Given the description of an element on the screen output the (x, y) to click on. 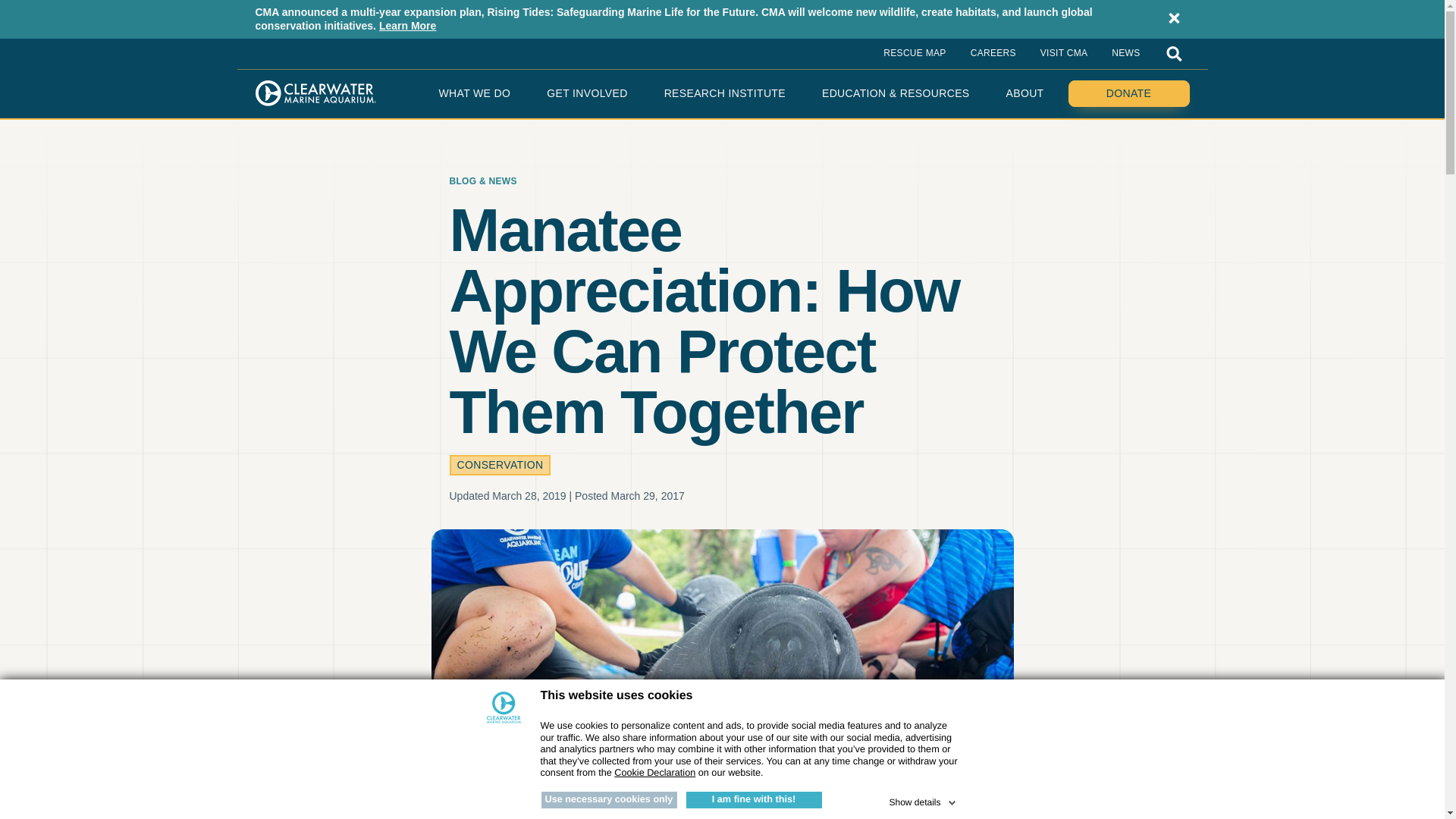
Cookie Declaration (654, 772)
I am fine with this! (753, 799)
Search (1173, 52)
Dismiss Message (1173, 17)
Use necessary cookies only (609, 799)
Show details (923, 799)
View (654, 772)
